Given the description of an element on the screen output the (x, y) to click on. 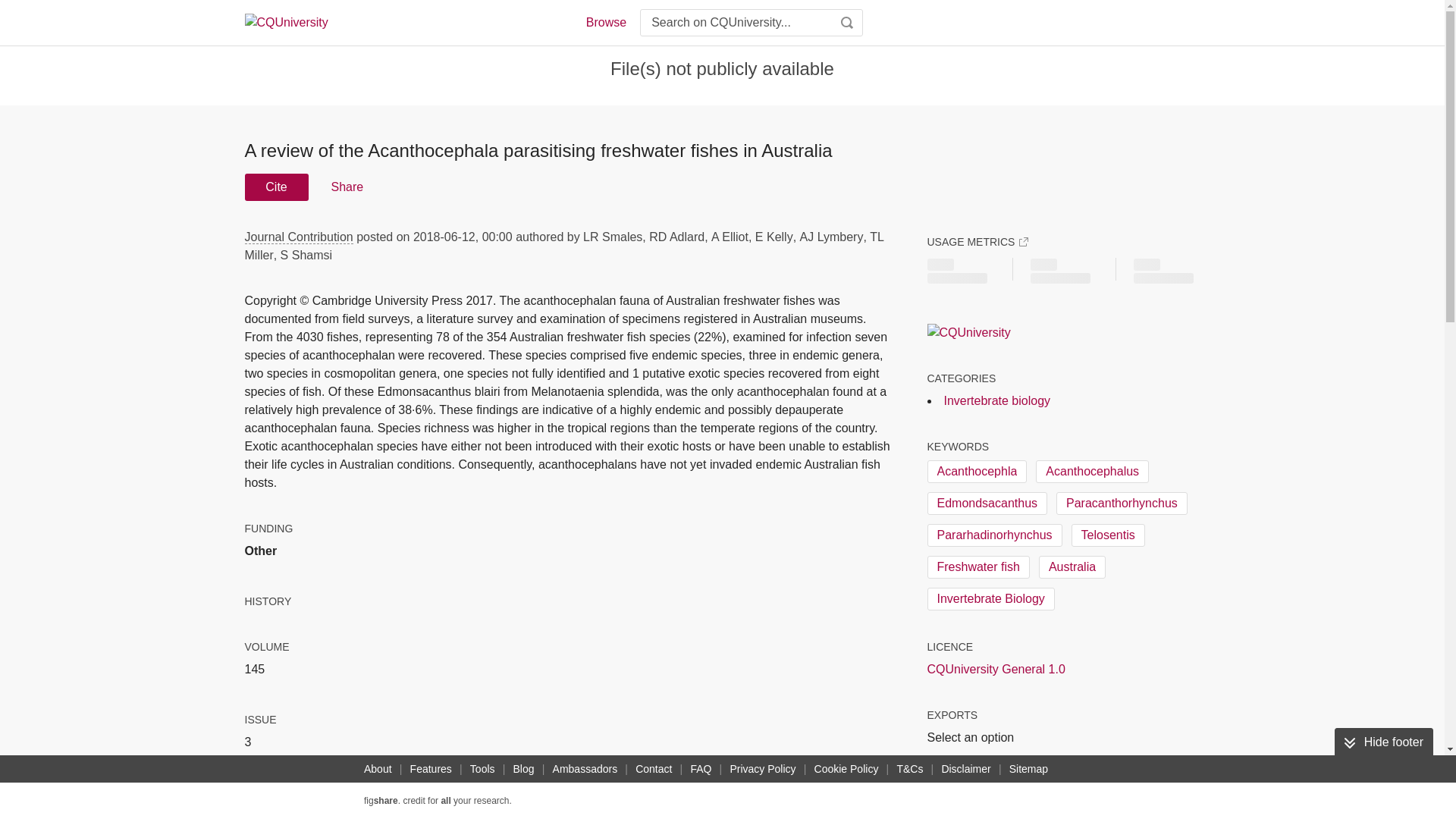
Paracanthorhynchus (1122, 503)
Features (431, 769)
Tools (482, 769)
Blog (523, 769)
Hide footer (1383, 742)
Cite (275, 186)
About (377, 769)
Invertebrate biology (996, 400)
Pararhadinorhynchus (993, 535)
Browse (605, 22)
Telosentis (1107, 535)
CQUniversity General 1.0 (995, 669)
Ambassadors (585, 769)
Contact (653, 769)
Australia (1072, 567)
